Given the description of an element on the screen output the (x, y) to click on. 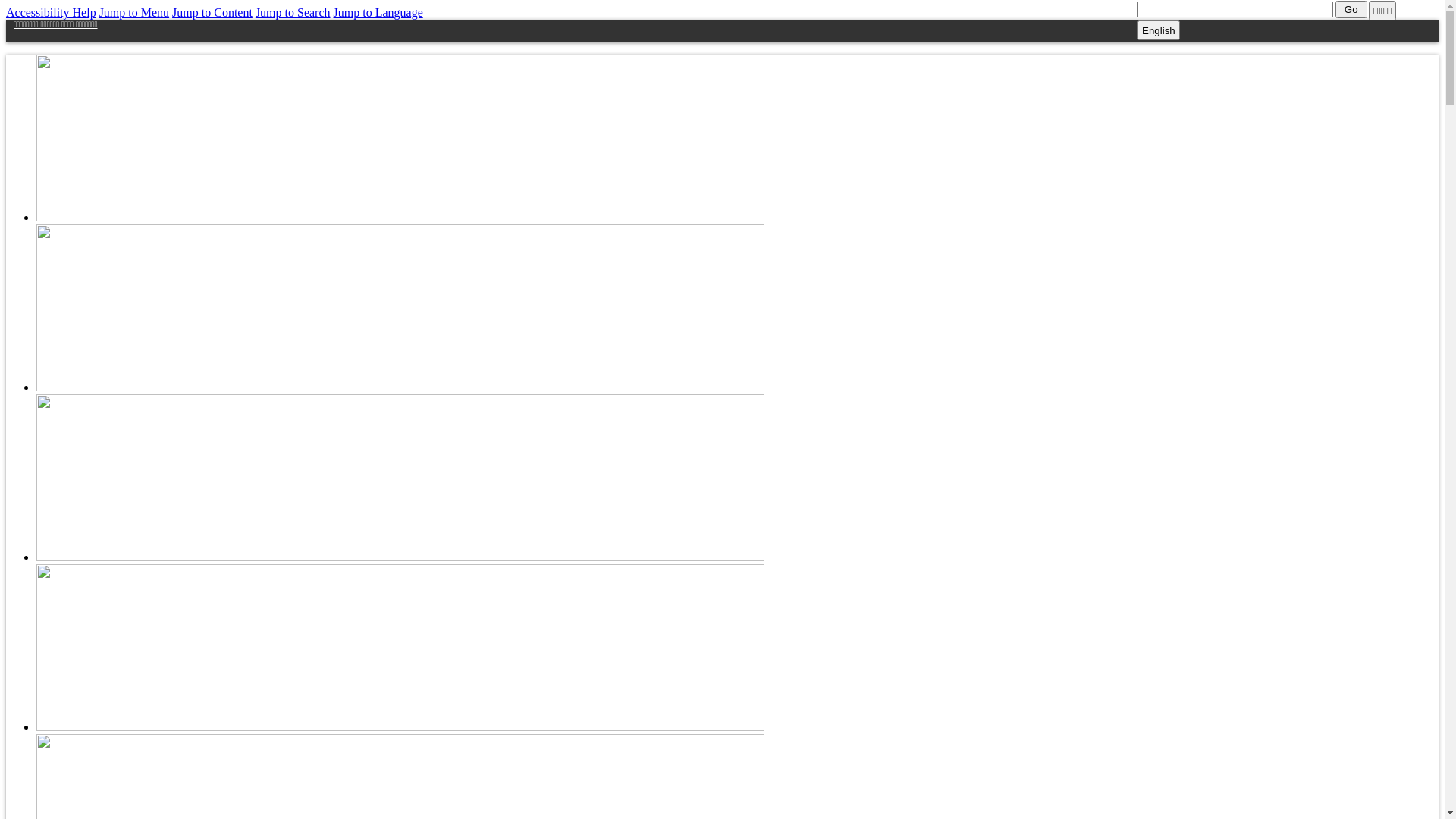
Jump to Language Element type: text (378, 12)
Go Element type: text (1351, 9)
Jump to Content Element type: text (212, 12)
English Element type: text (1158, 30)
Accessibility Help Element type: text (51, 12)
Jump to Search Element type: text (292, 12)
Jump to Menu Element type: text (134, 12)
